Given the description of an element on the screen output the (x, y) to click on. 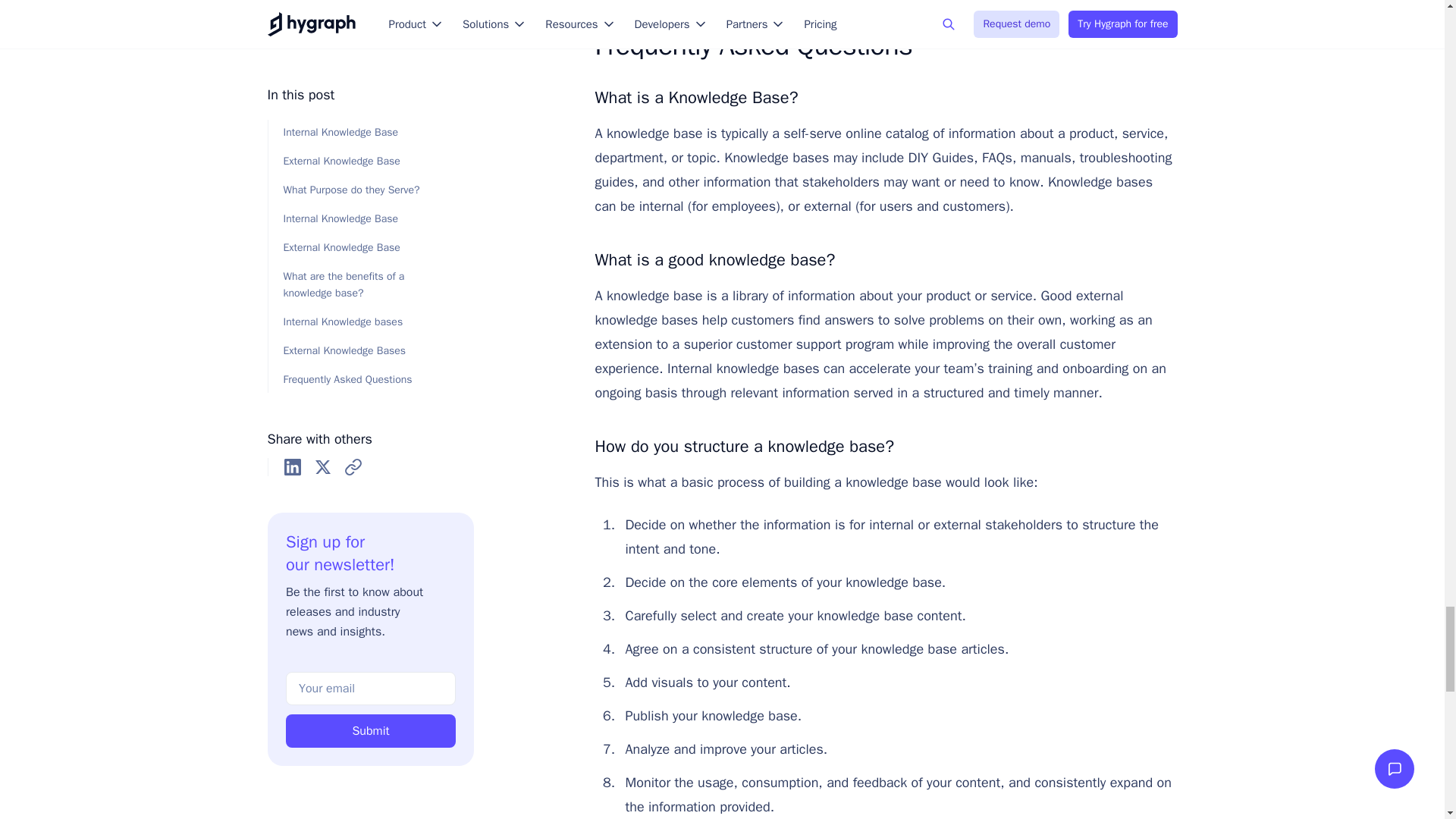
Frequently Asked Questions (879, 45)
